Given the description of an element on the screen output the (x, y) to click on. 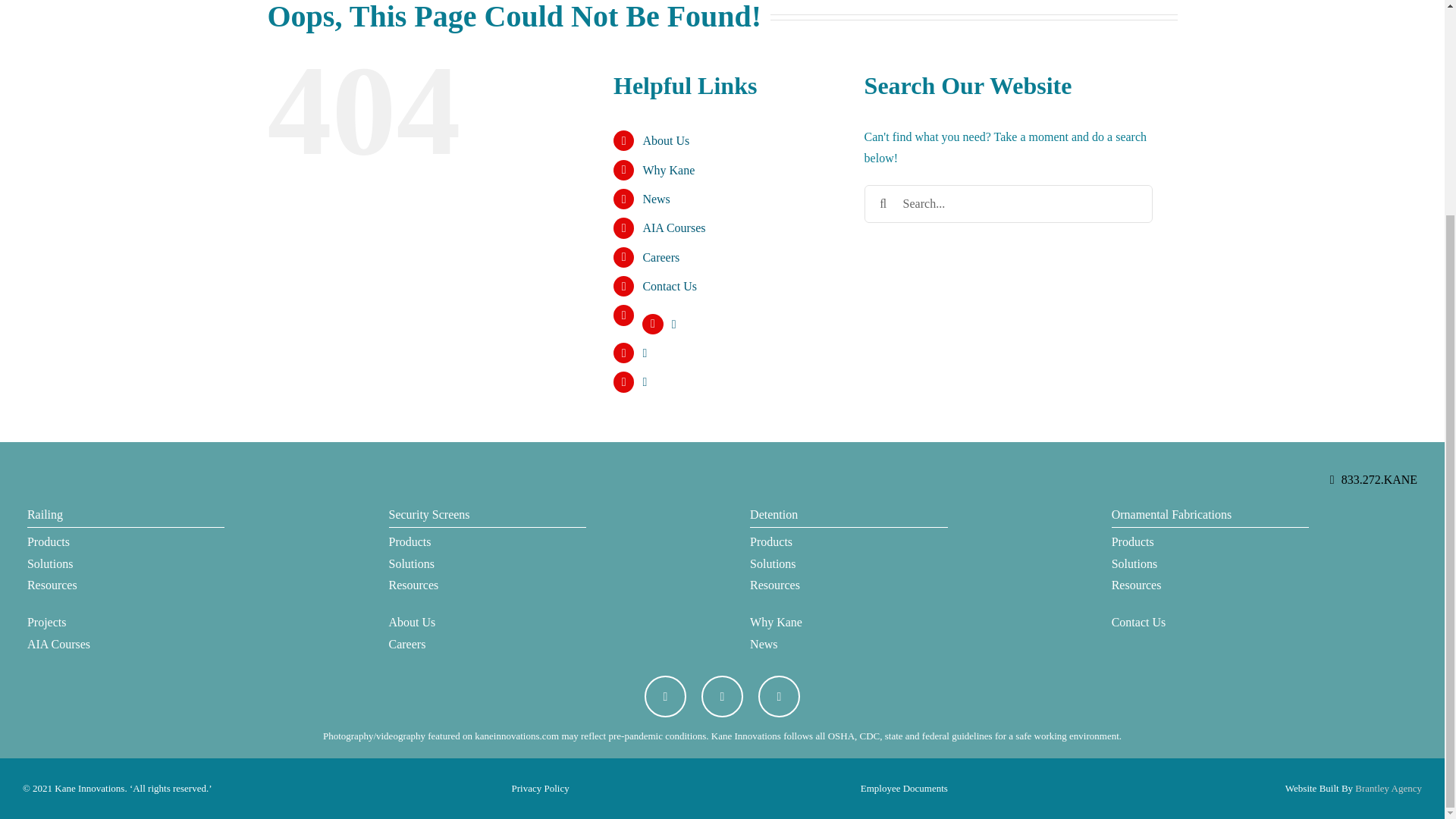
Careers (660, 256)
Solutions (1210, 564)
Products (487, 542)
About Us (487, 622)
Products (1210, 542)
YouTube (721, 696)
Why Kane (668, 169)
Resources (1210, 585)
Resources (125, 585)
Resources (487, 585)
AIA Courses (673, 227)
Products (848, 542)
Projects (125, 622)
X (665, 696)
News (848, 644)
